Given the description of an element on the screen output the (x, y) to click on. 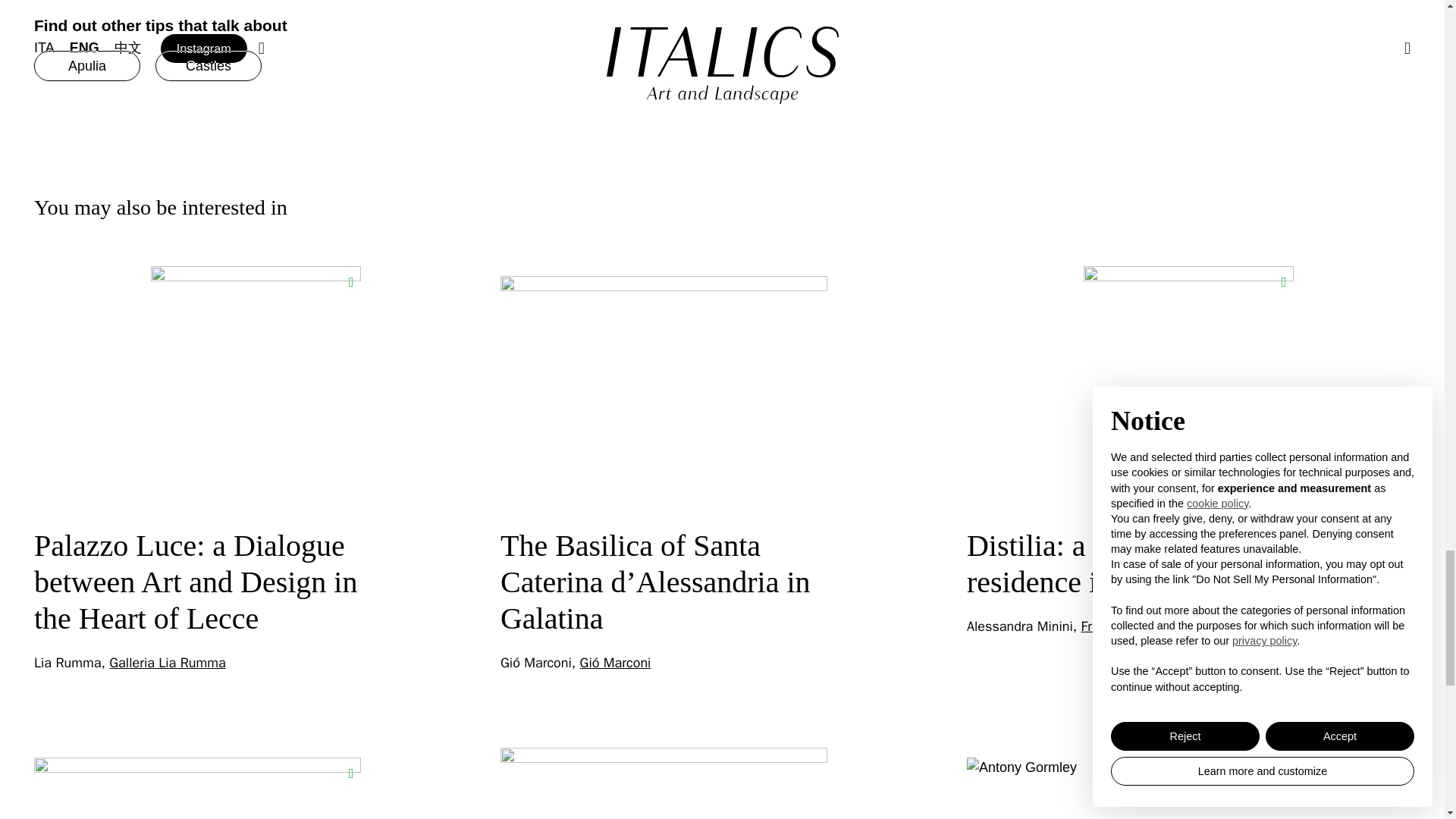
Galleria Lia Rumma (167, 662)
Castles (208, 65)
Apulia (86, 65)
Francesca Minini (1130, 626)
Distilia: a splendid residence in Salento (1088, 563)
